Given the description of an element on the screen output the (x, y) to click on. 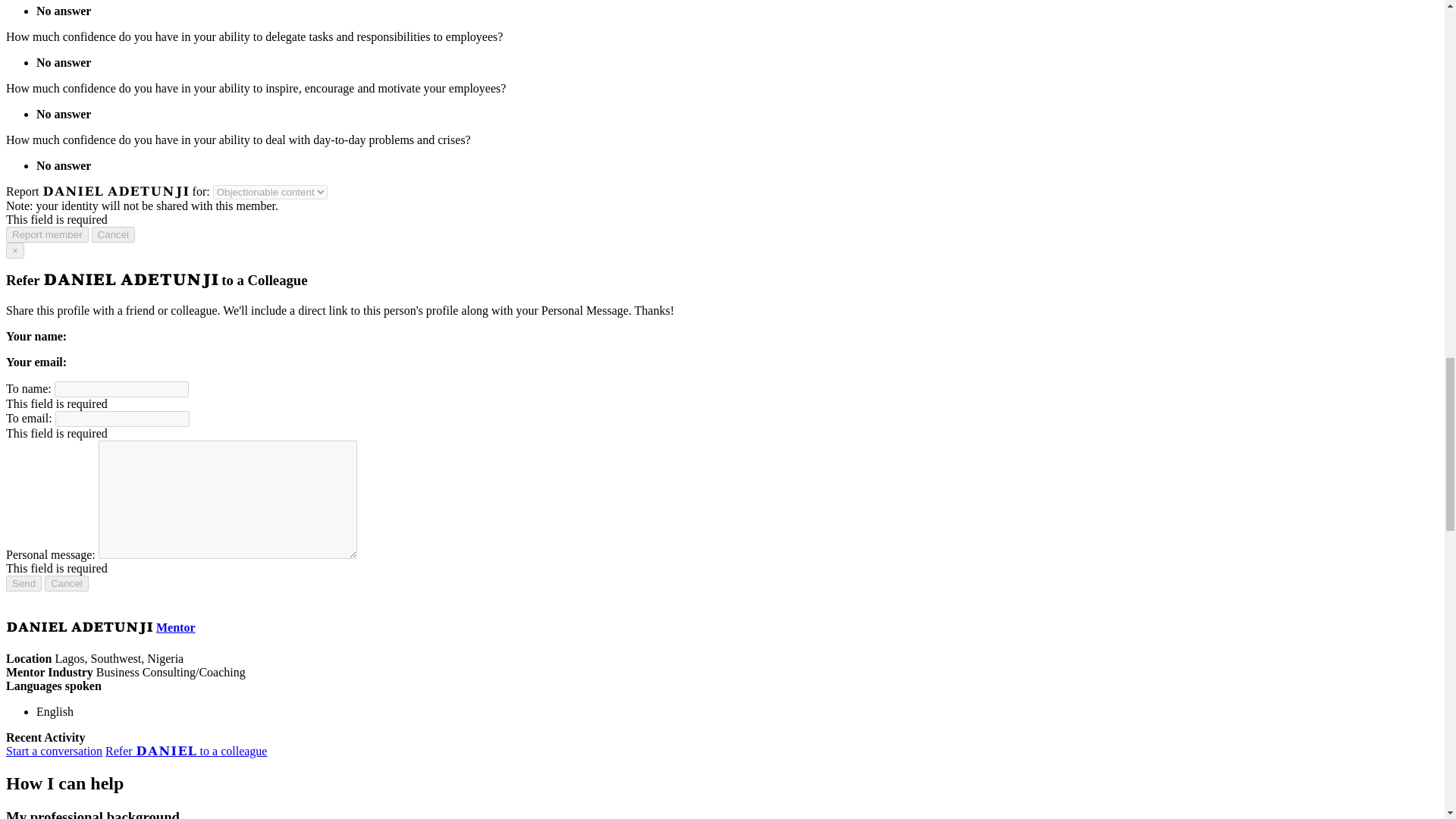
Mentor (175, 626)
Report member (46, 234)
Start a conversation (53, 750)
Cancel (66, 583)
Cancel (113, 234)
Send (23, 583)
